Given the description of an element on the screen output the (x, y) to click on. 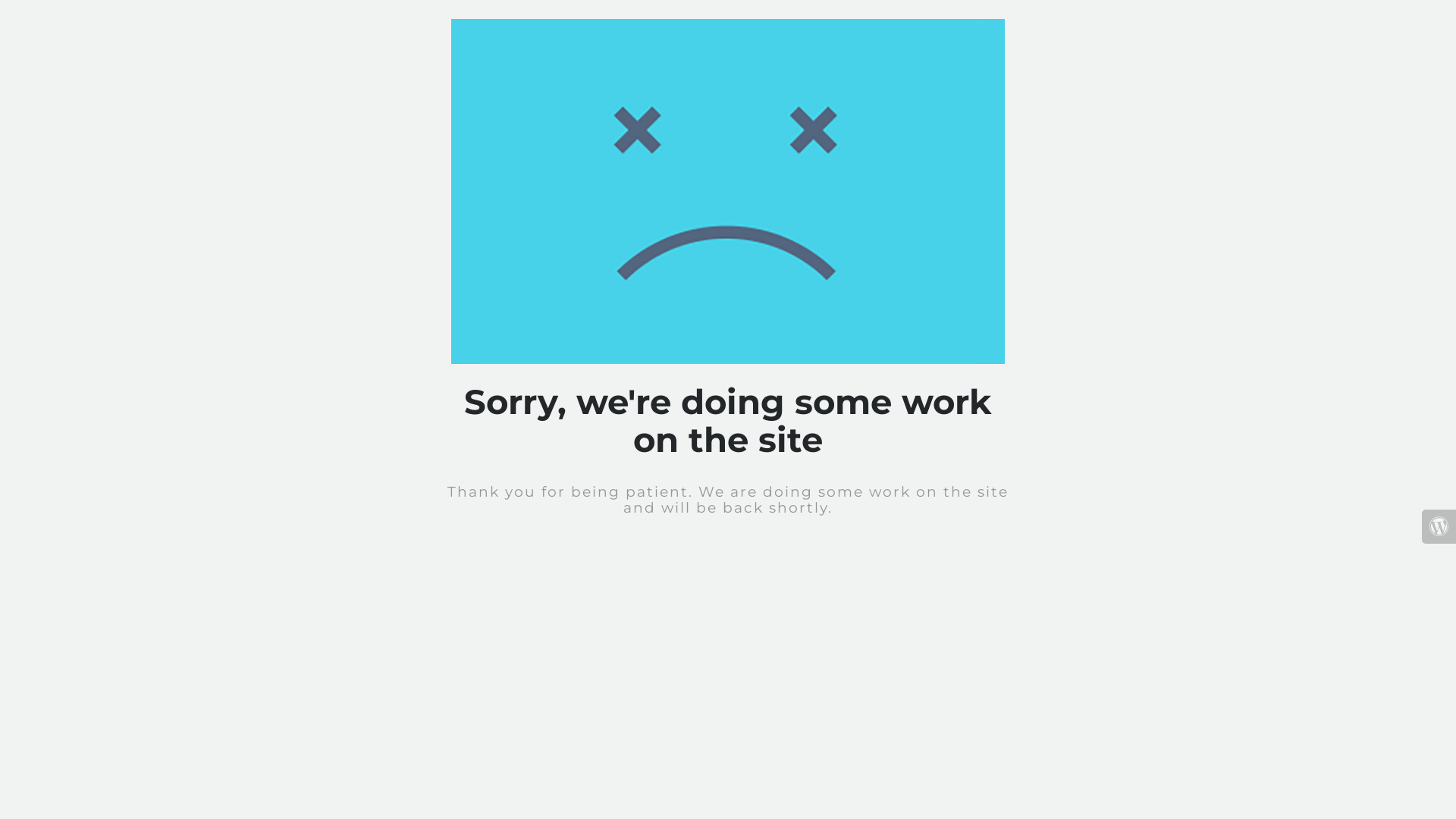
Sad Site is under construction :( Element type: hover (727, 191)
